Given the description of an element on the screen output the (x, y) to click on. 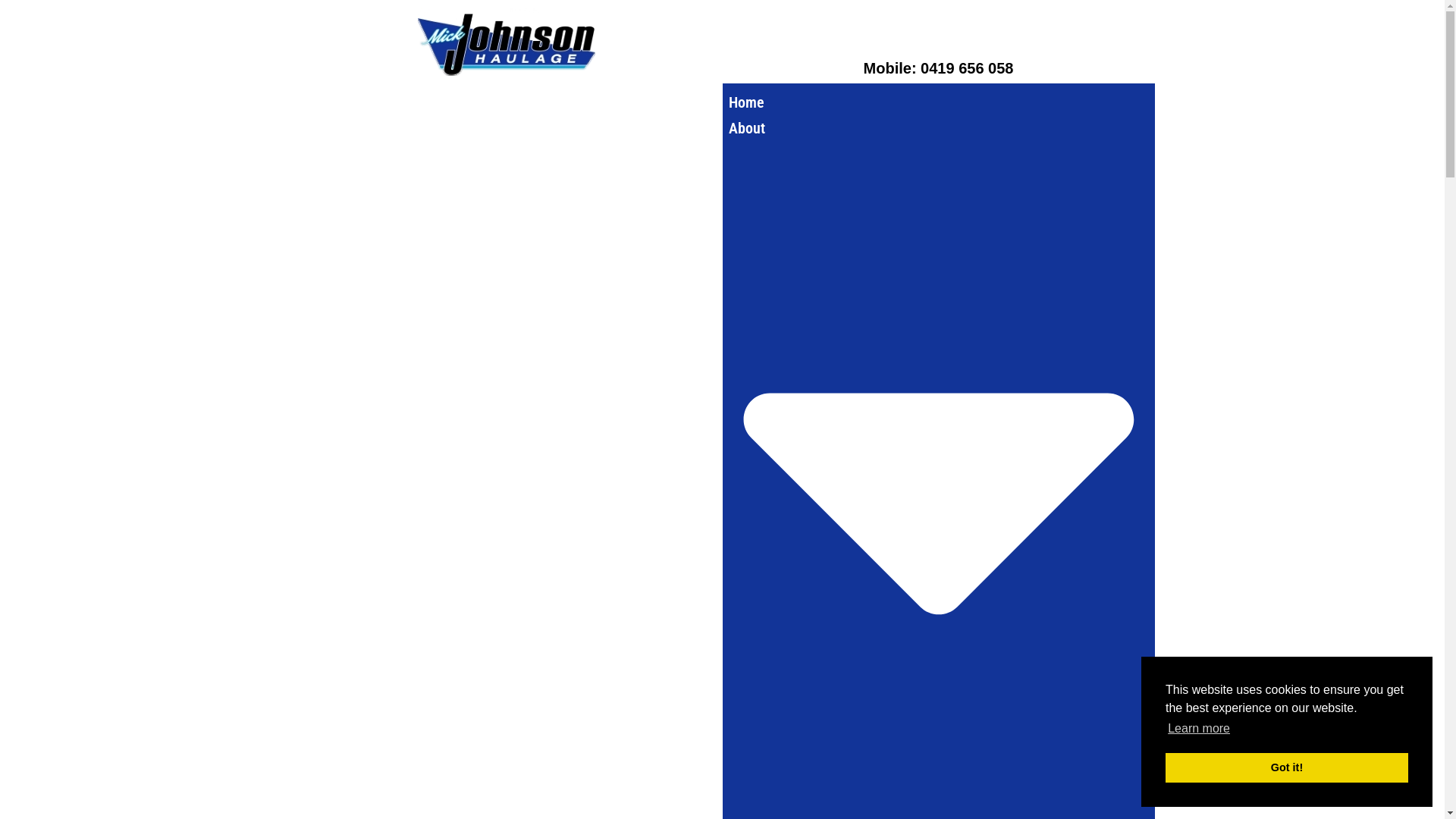
Got it! Element type: text (1286, 767)
About Element type: text (938, 467)
Home Element type: text (745, 102)
Learn more Element type: text (1198, 728)
Skip to content Element type: text (11, 31)
